Given the description of an element on the screen output the (x, y) to click on. 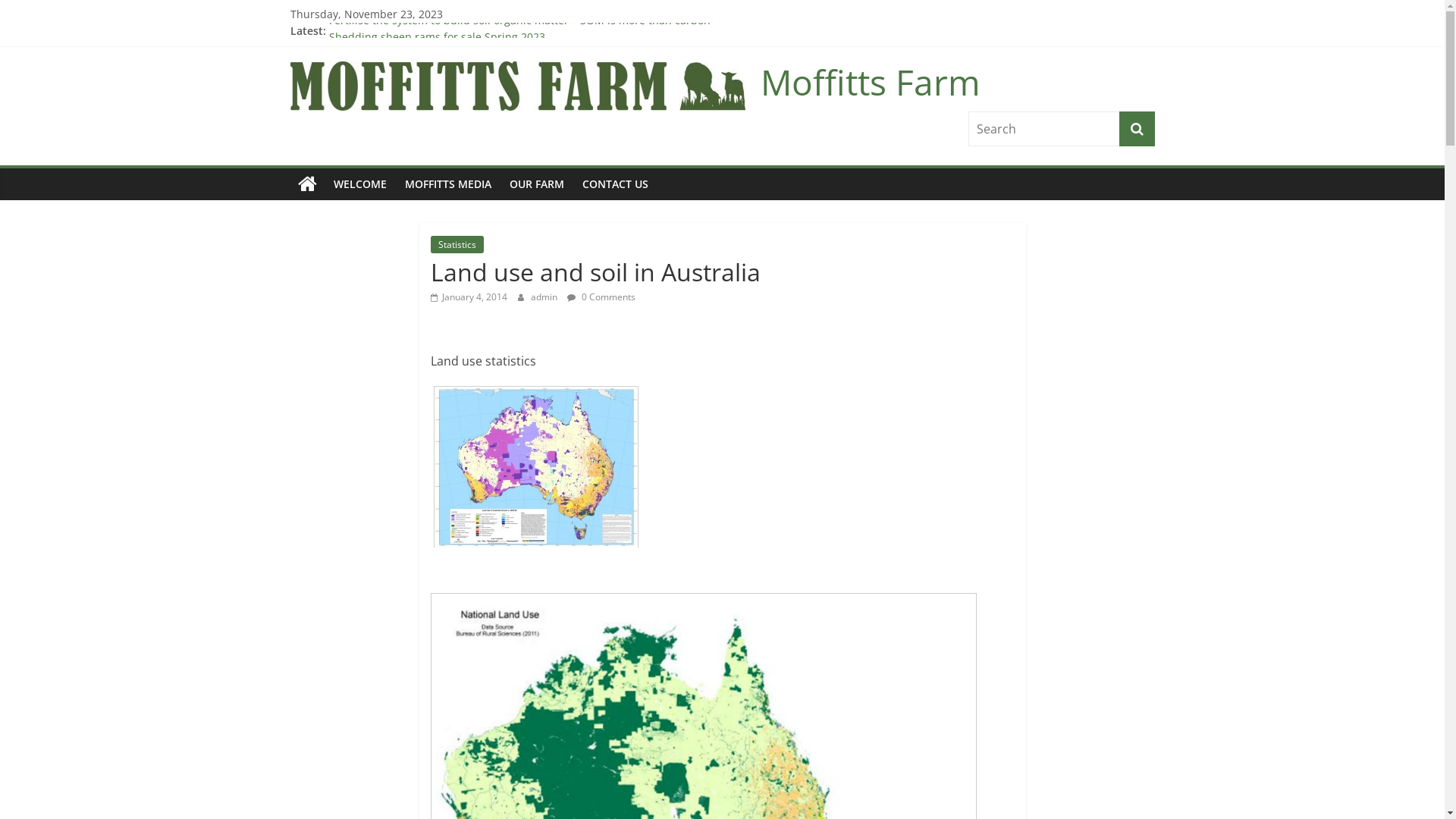
OUR FARM Element type: text (536, 184)
Moffitts Farm Element type: text (869, 81)
Shedding sheep rams for sale Spring 2023 Element type: text (437, 30)
CONTACT US Element type: text (615, 184)
Moffitts Farm Element type: hover (306, 184)
Statistics Element type: text (456, 244)
WELCOME Element type: text (359, 184)
MOFFITTS MEDIA Element type: text (447, 184)
January 4, 2014 Element type: text (468, 296)
0 Comments Element type: text (601, 296)
admin Element type: text (544, 296)
